Given the description of an element on the screen output the (x, y) to click on. 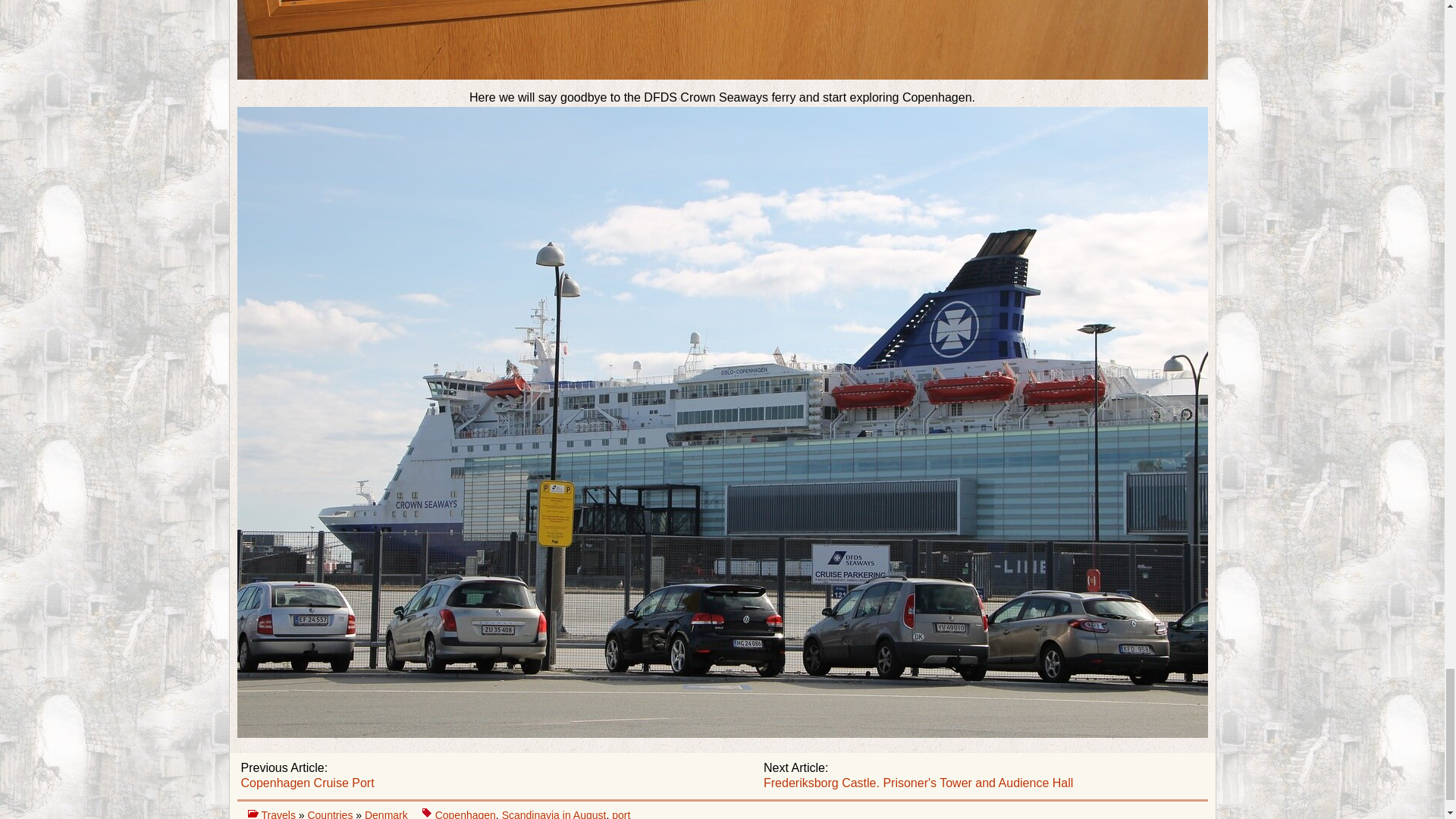
Copenhagen (465, 814)
Frederiksborg Castle. Prisoner's Tower and Audience Hall (917, 782)
Travels (279, 814)
port (620, 814)
Copenhagen Cruise Port (307, 782)
Countries (331, 814)
Scandinavia in August (554, 814)
Denmark (387, 814)
 port of Copenhagen, port Copenhagen, DFDS terminal (721, 39)
